Given the description of an element on the screen output the (x, y) to click on. 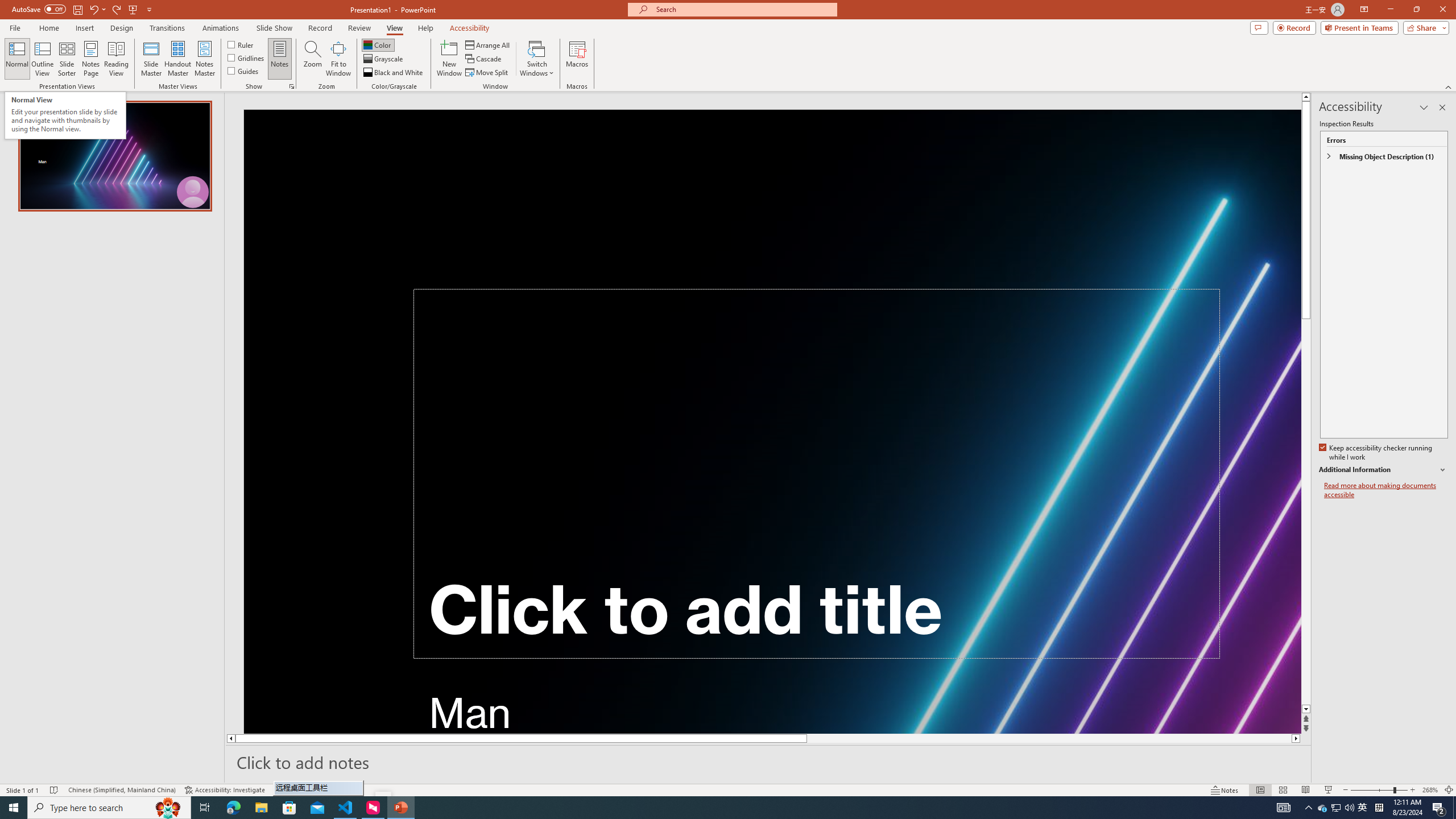
Grid Settings... (291, 85)
Fit to Window (338, 58)
Zoom 268% (1430, 790)
Macros (576, 58)
New Window (449, 58)
